Given the description of an element on the screen output the (x, y) to click on. 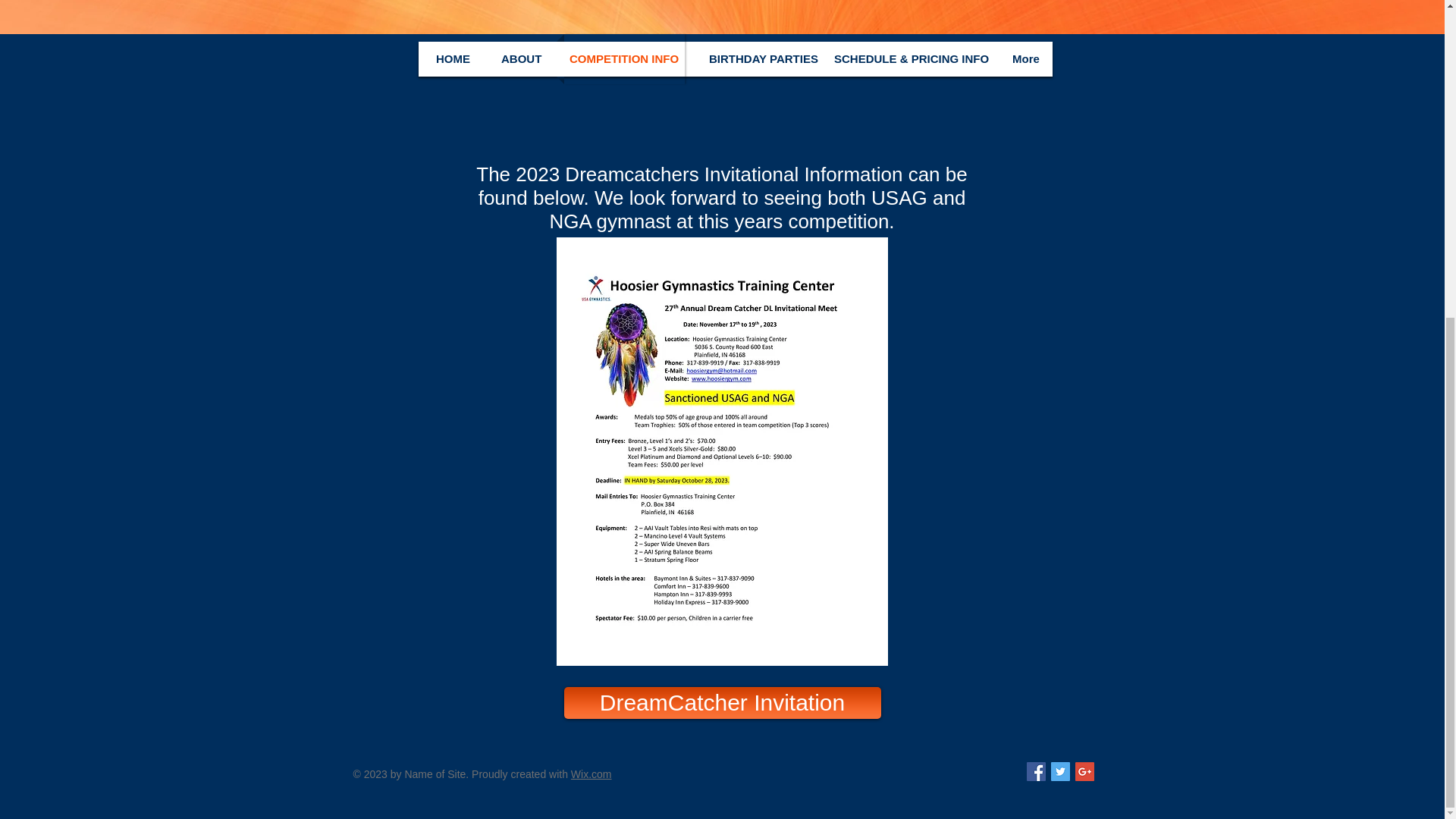
HOME (452, 59)
Wix.com (590, 774)
BIRTHDAY PARTIES (755, 59)
ABOUT (520, 59)
DreamCatcher Invitation (722, 703)
COMPETITION INFO (624, 59)
